Given the description of an element on the screen output the (x, y) to click on. 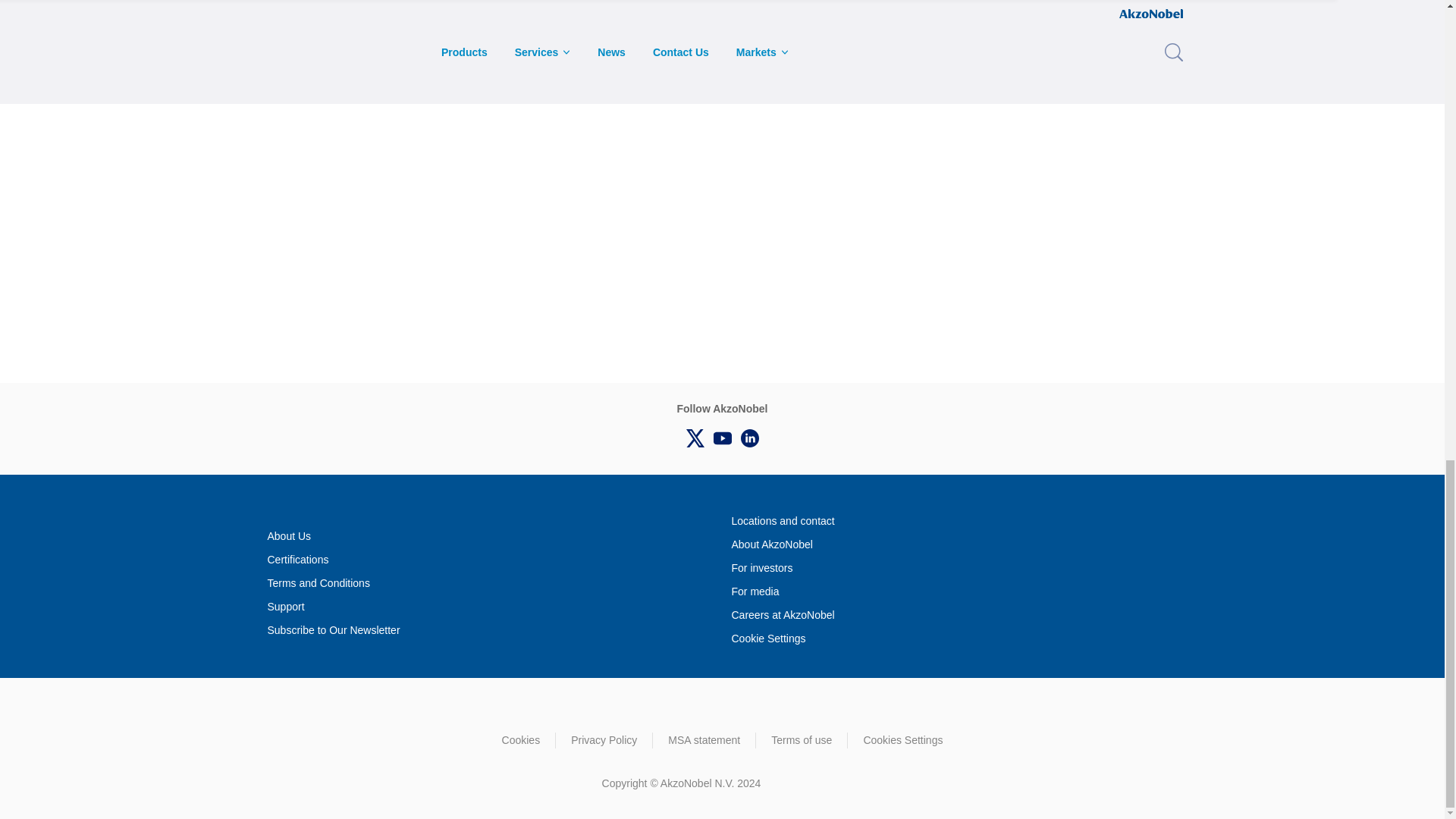
Follow AkzoNobel (694, 438)
Follow AkzoNobel (748, 438)
Certifications (297, 559)
Support (285, 607)
Terms and Conditions (317, 583)
Subscribe to Our Newsletter (332, 630)
Follow AkzoNobel (721, 438)
About Us (288, 535)
